Given the description of an element on the screen output the (x, y) to click on. 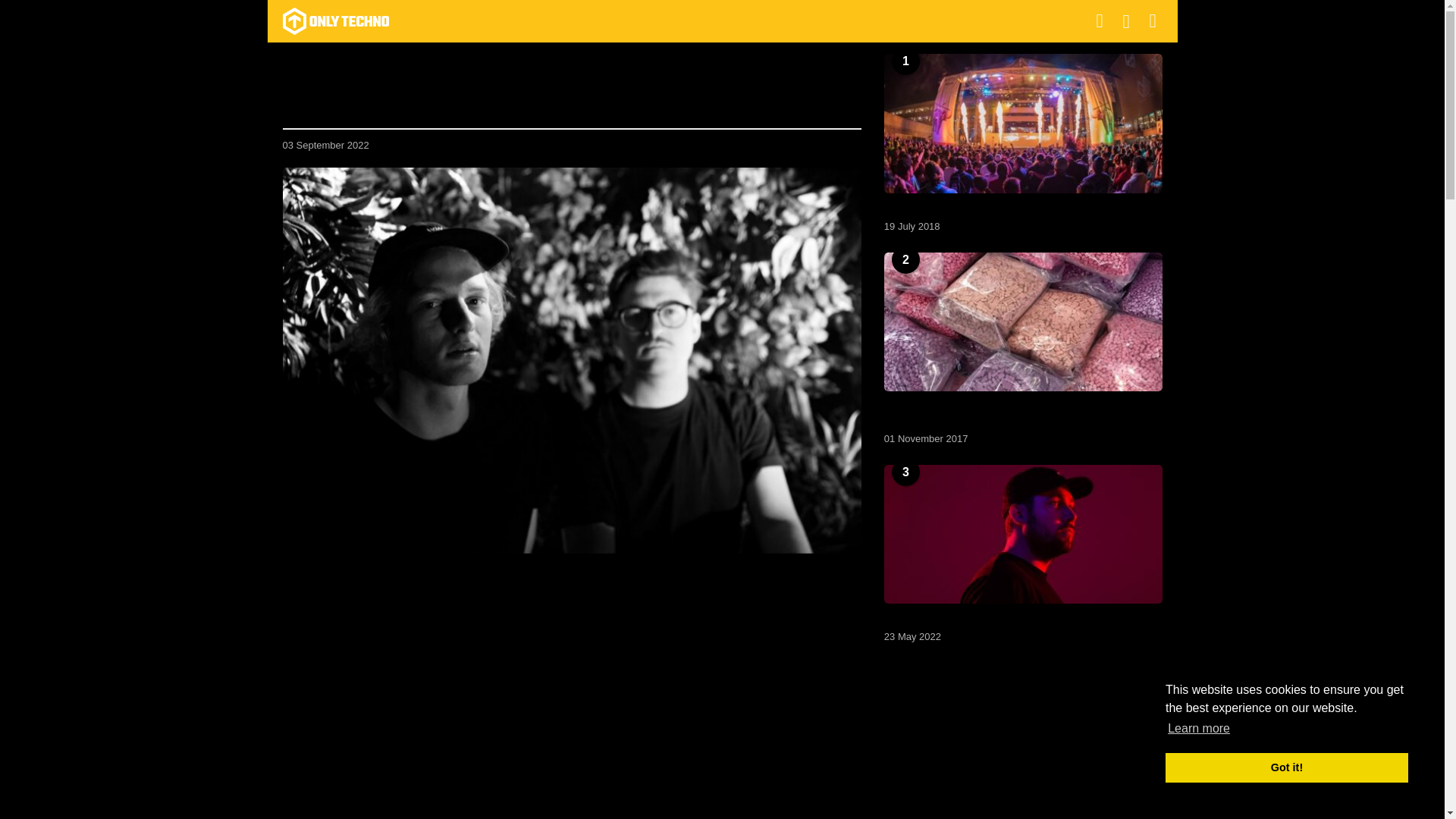
Got it! (1286, 767)
Interview:  Space 92 (1022, 534)
Advertisement (1022, 746)
Advertisement (571, 715)
Learn more (1198, 728)
3 Things DJs Should Never Do On Stage (1022, 123)
